Given the description of an element on the screen output the (x, y) to click on. 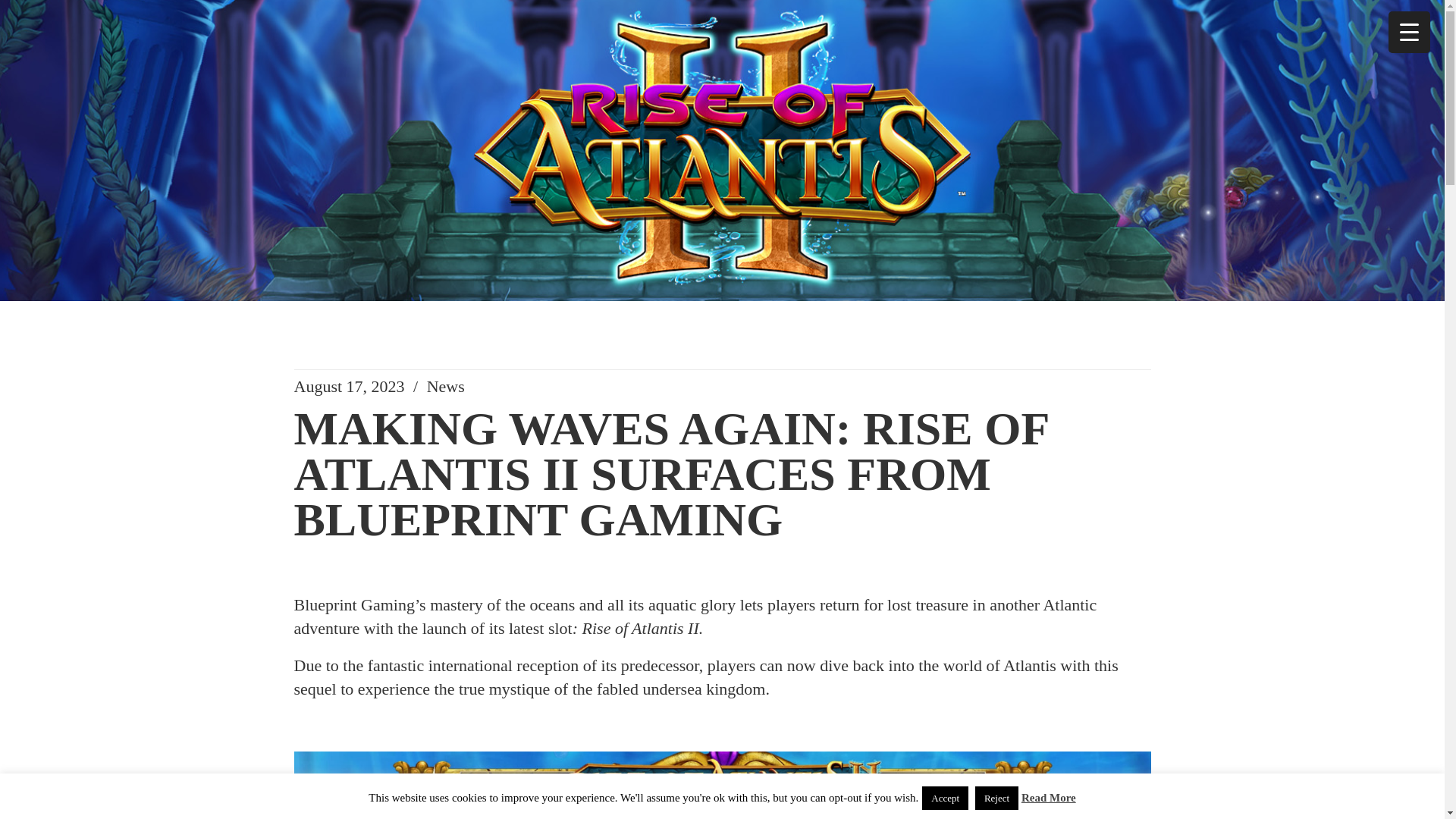
Accept (944, 797)
News (445, 385)
Read More (1048, 797)
Reject (996, 797)
